Given the description of an element on the screen output the (x, y) to click on. 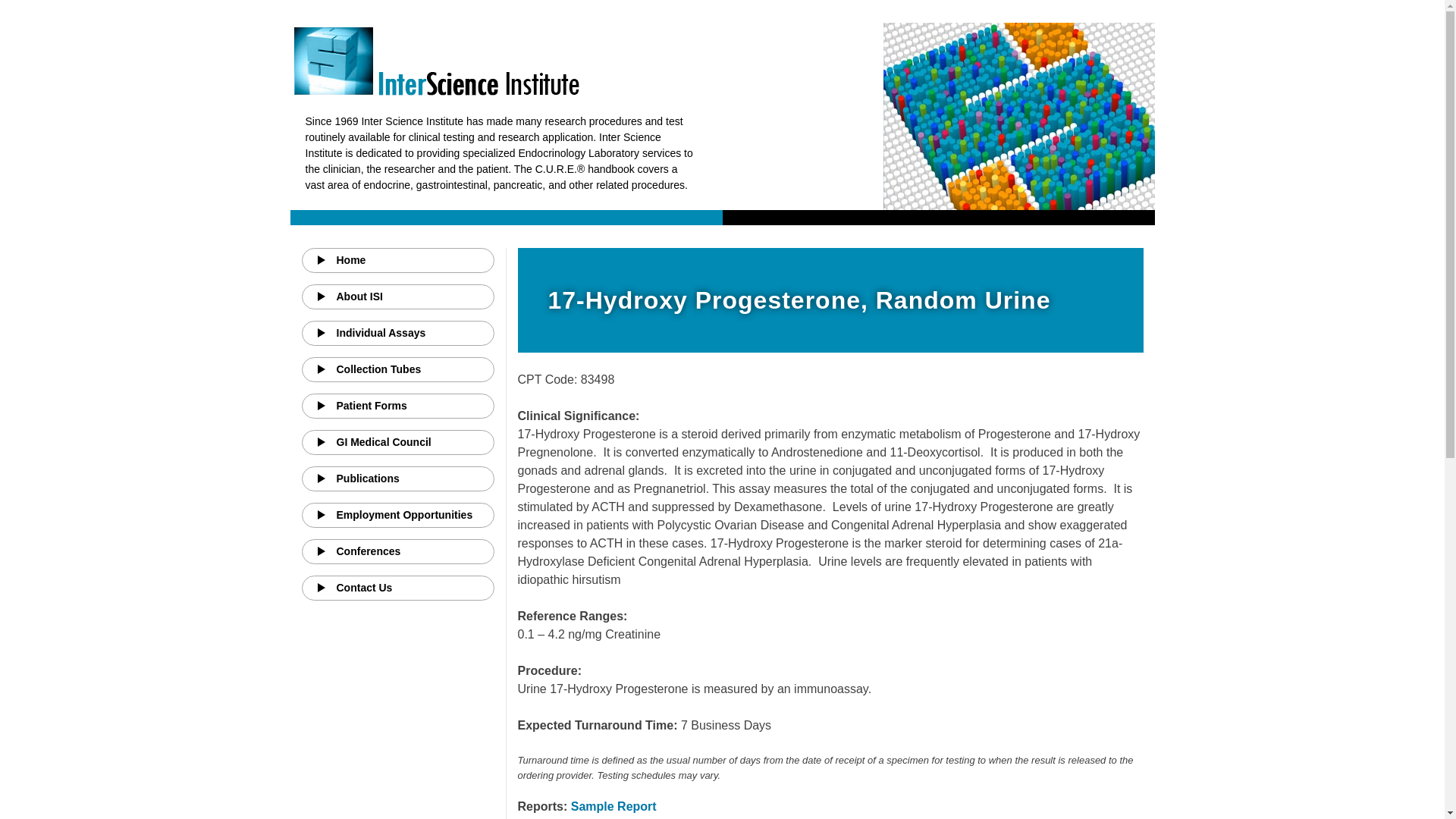
GI Medical Council (398, 442)
Contact Us (398, 587)
Conferences (398, 551)
About ISI (398, 296)
Home (398, 260)
Collection Tubes (398, 369)
Employment Opportunities (398, 514)
Patient Forms (398, 405)
Publications (398, 478)
Individual Assays (398, 333)
Sample Report (613, 806)
